Given the description of an element on the screen output the (x, y) to click on. 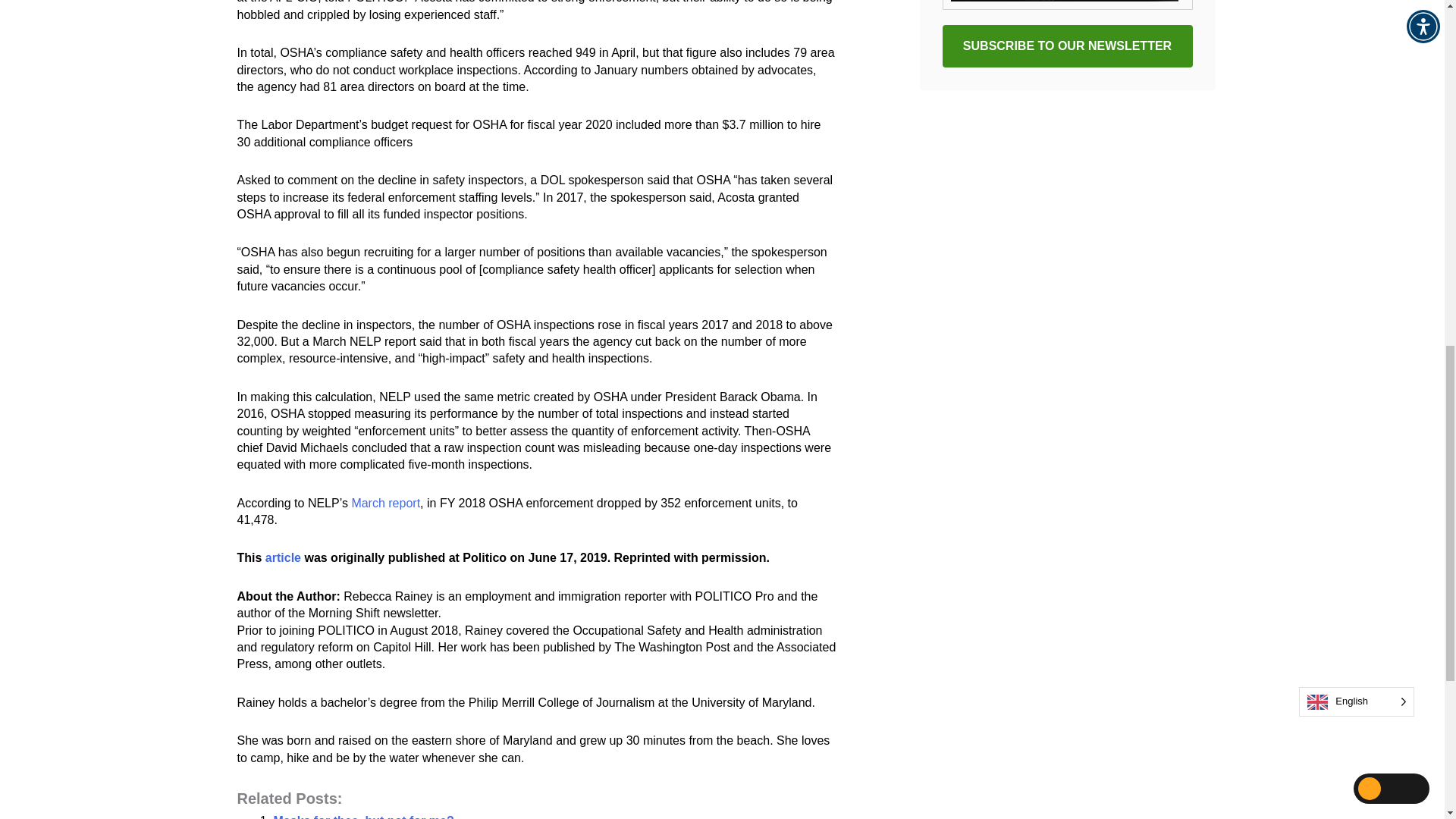
Masks for thee, but not for me? (362, 816)
